Given the description of an element on the screen output the (x, y) to click on. 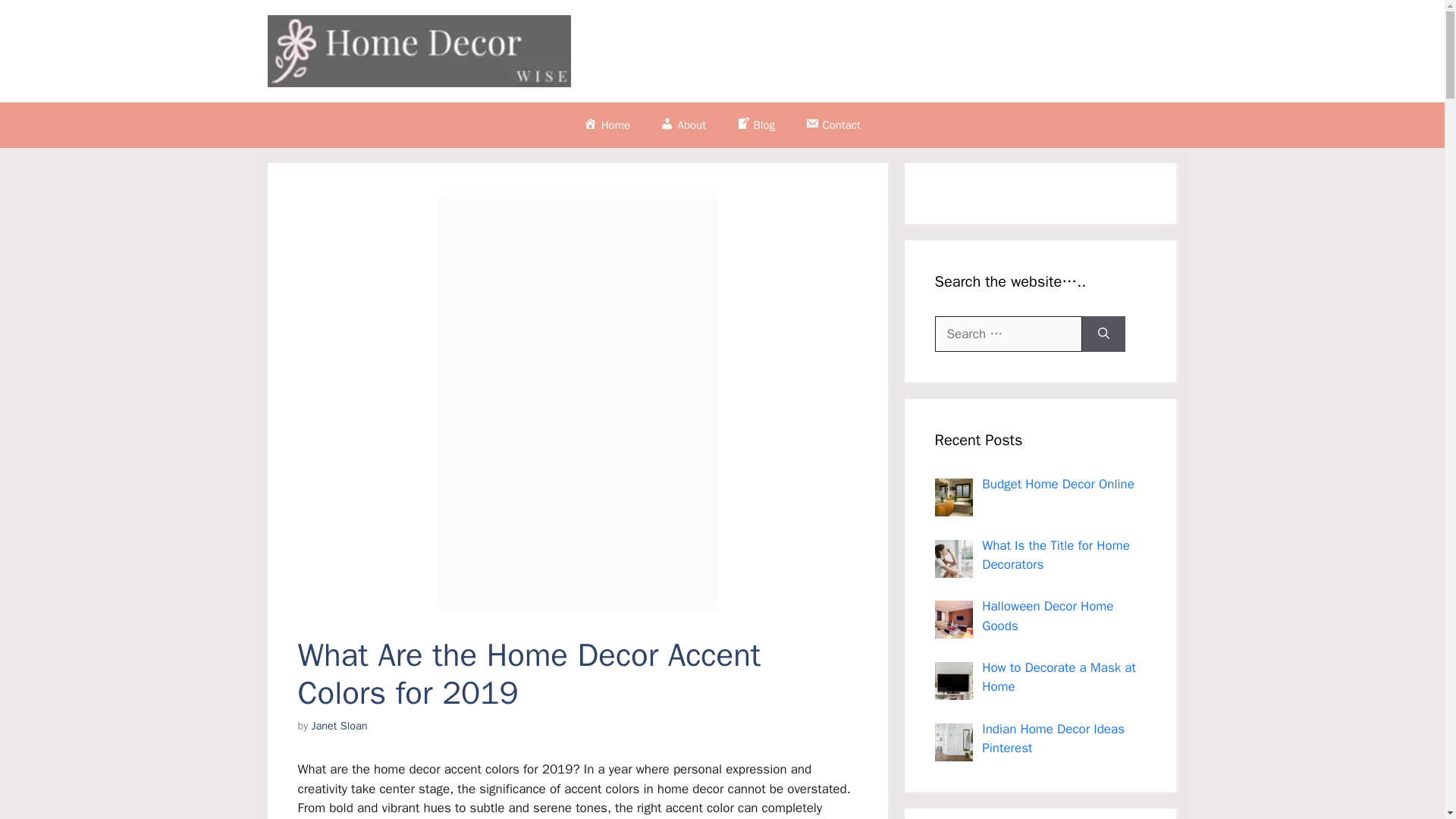
Home (607, 125)
Janet Sloan (339, 725)
About (682, 125)
Contact (833, 125)
View all posts by Janet Sloan (339, 725)
Blog (755, 125)
